Given the description of an element on the screen output the (x, y) to click on. 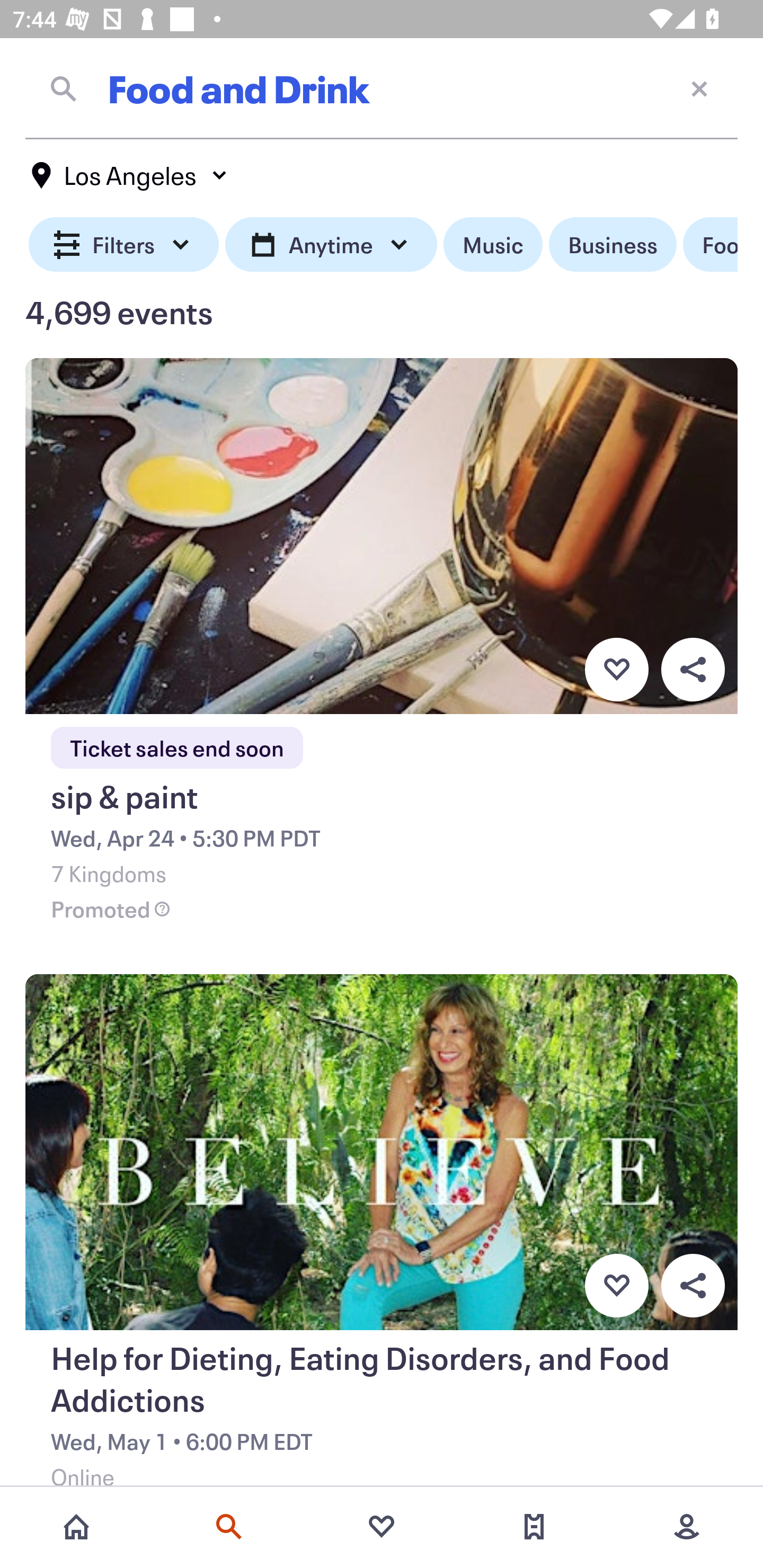
Food and Drink Close current screen (381, 88)
Close current screen (699, 88)
Los Angeles (130, 175)
Filters (123, 244)
Anytime (331, 244)
Music (492, 244)
Business (612, 244)
Favorite button (616, 669)
Overflow menu button (692, 669)
Favorite button (616, 1285)
Overflow menu button (692, 1285)
Home (76, 1526)
Search events (228, 1526)
Favorites (381, 1526)
Tickets (533, 1526)
More (686, 1526)
